Given the description of an element on the screen output the (x, y) to click on. 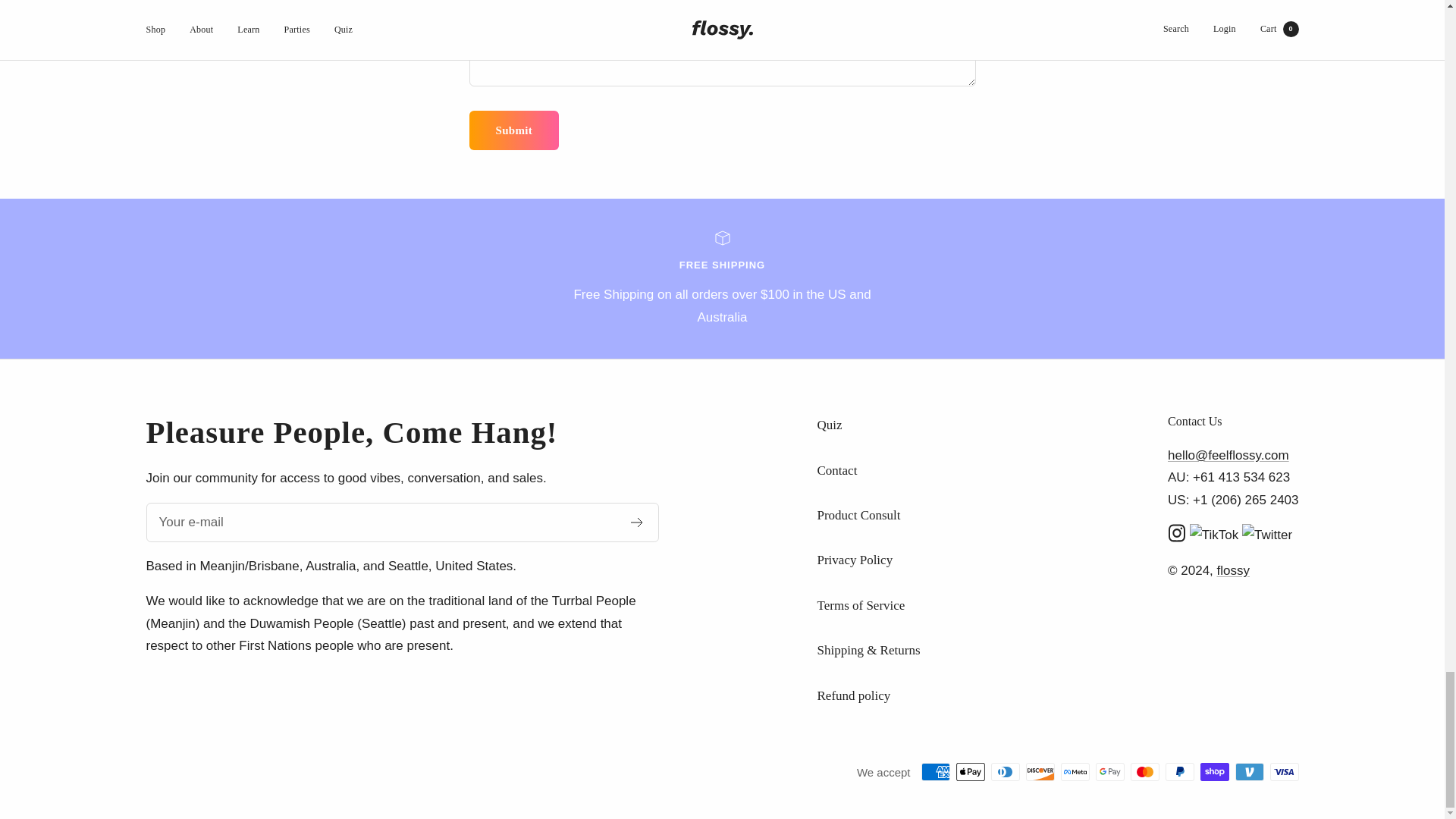
Register (636, 521)
